Given the description of an element on the screen output the (x, y) to click on. 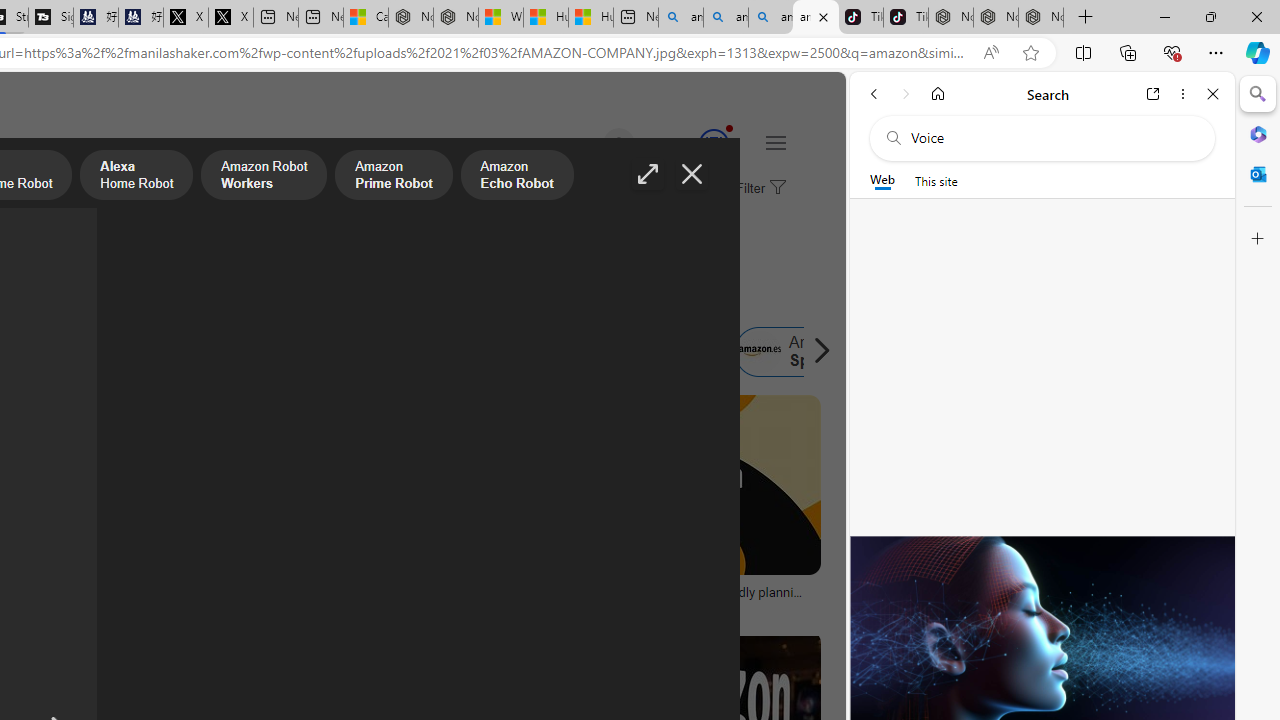
Amazon.com.au (343, 351)
Alexa Home Robot (136, 177)
Outlook (1258, 174)
Close image (692, 173)
